Given the description of an element on the screen output the (x, y) to click on. 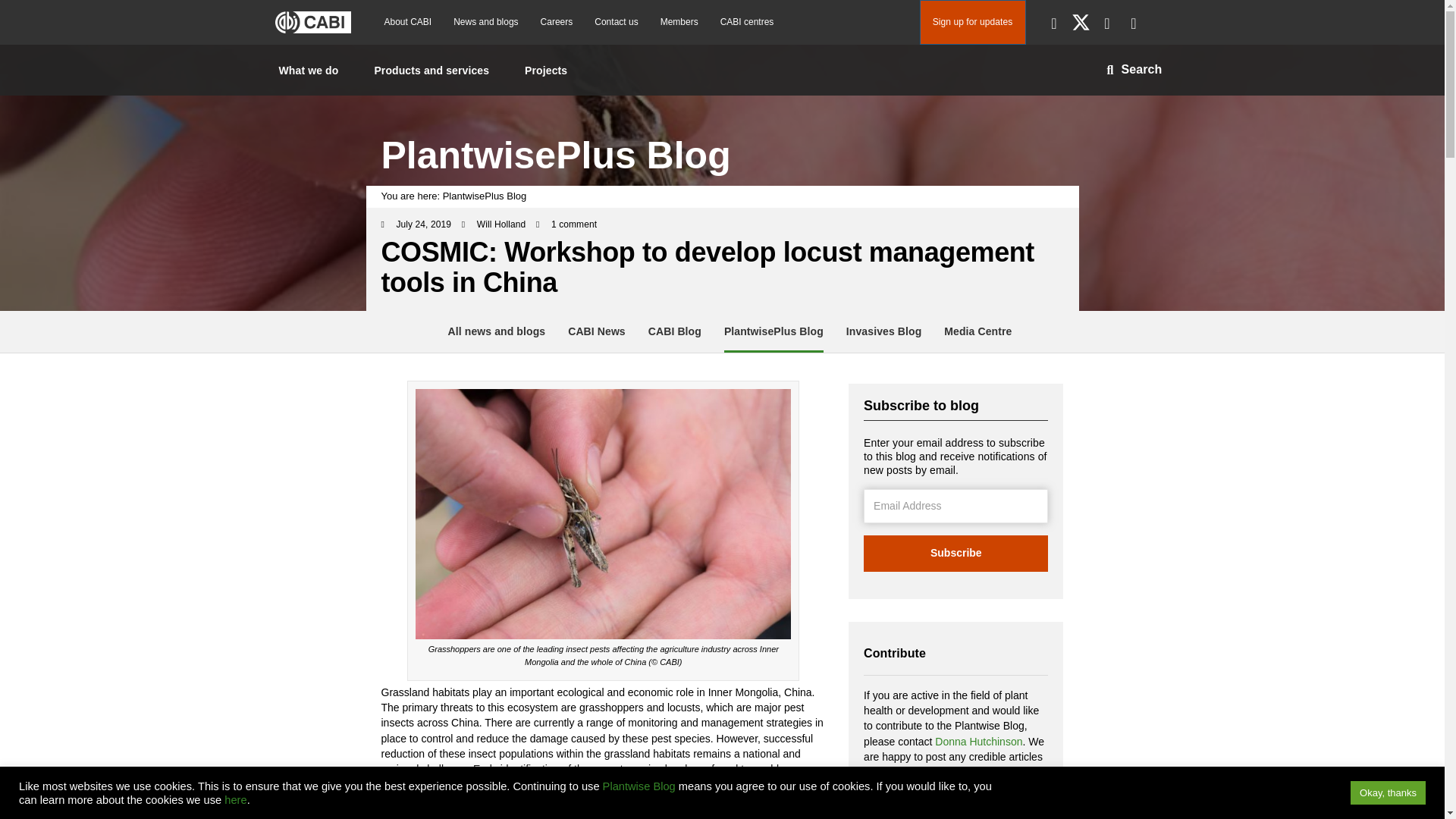
Contact us (615, 21)
CABI centres (747, 21)
About CABI (407, 21)
News and blogs (485, 21)
Careers (556, 21)
Sign up for updates (971, 22)
Members (679, 21)
